Given the description of an element on the screen output the (x, y) to click on. 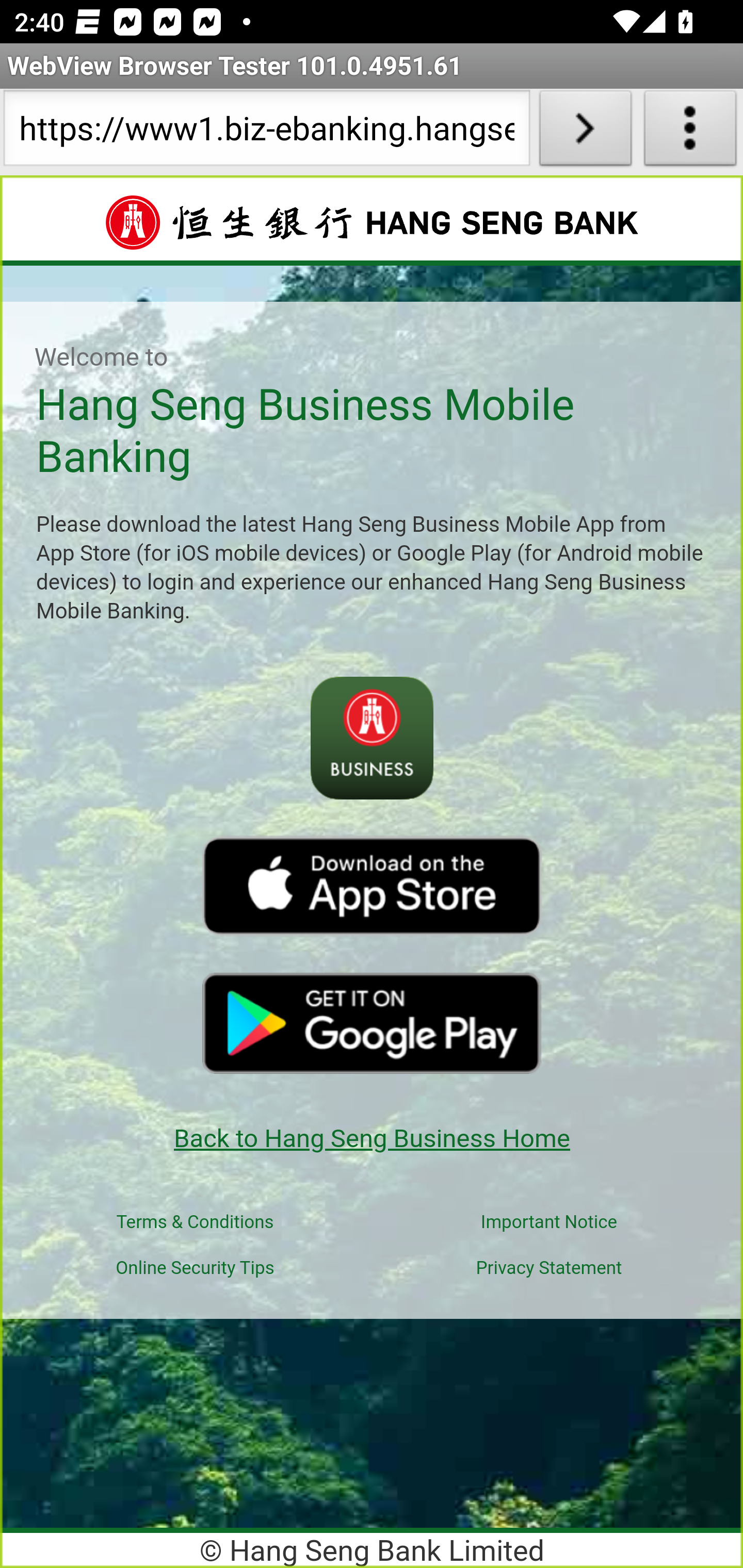
Load URL (585, 132)
About WebView (690, 132)
logo (371, 885)
logo (371, 1022)
Back to Hang Seng Business Home (371, 1138)
Terms & Conditions (194, 1223)
Important Notice (549, 1223)
Online Security Tips (194, 1267)
Privacy Statement (548, 1267)
